Given the description of an element on the screen output the (x, y) to click on. 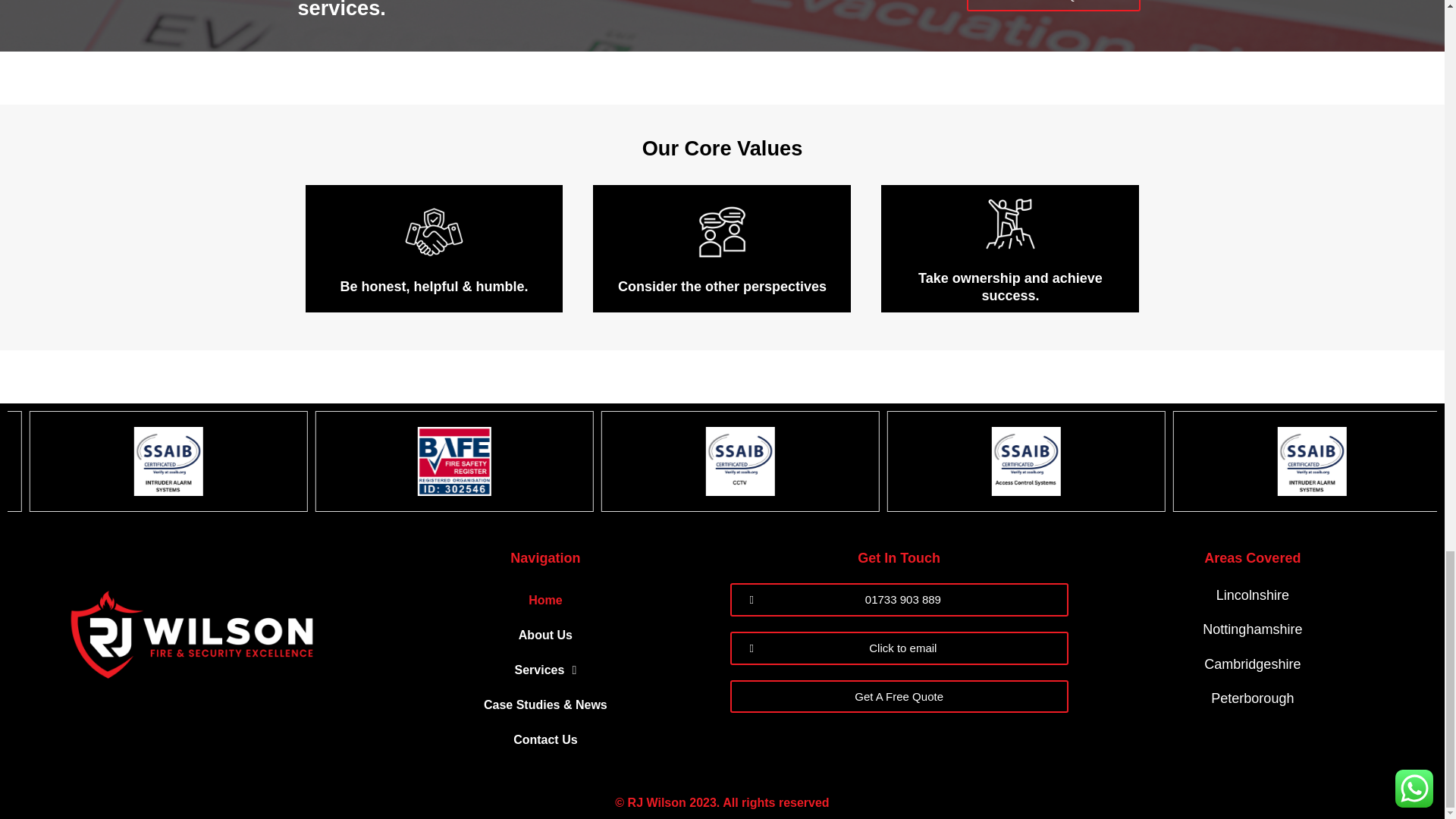
Get A Free Quote (1053, 5)
